Given the description of an element on the screen output the (x, y) to click on. 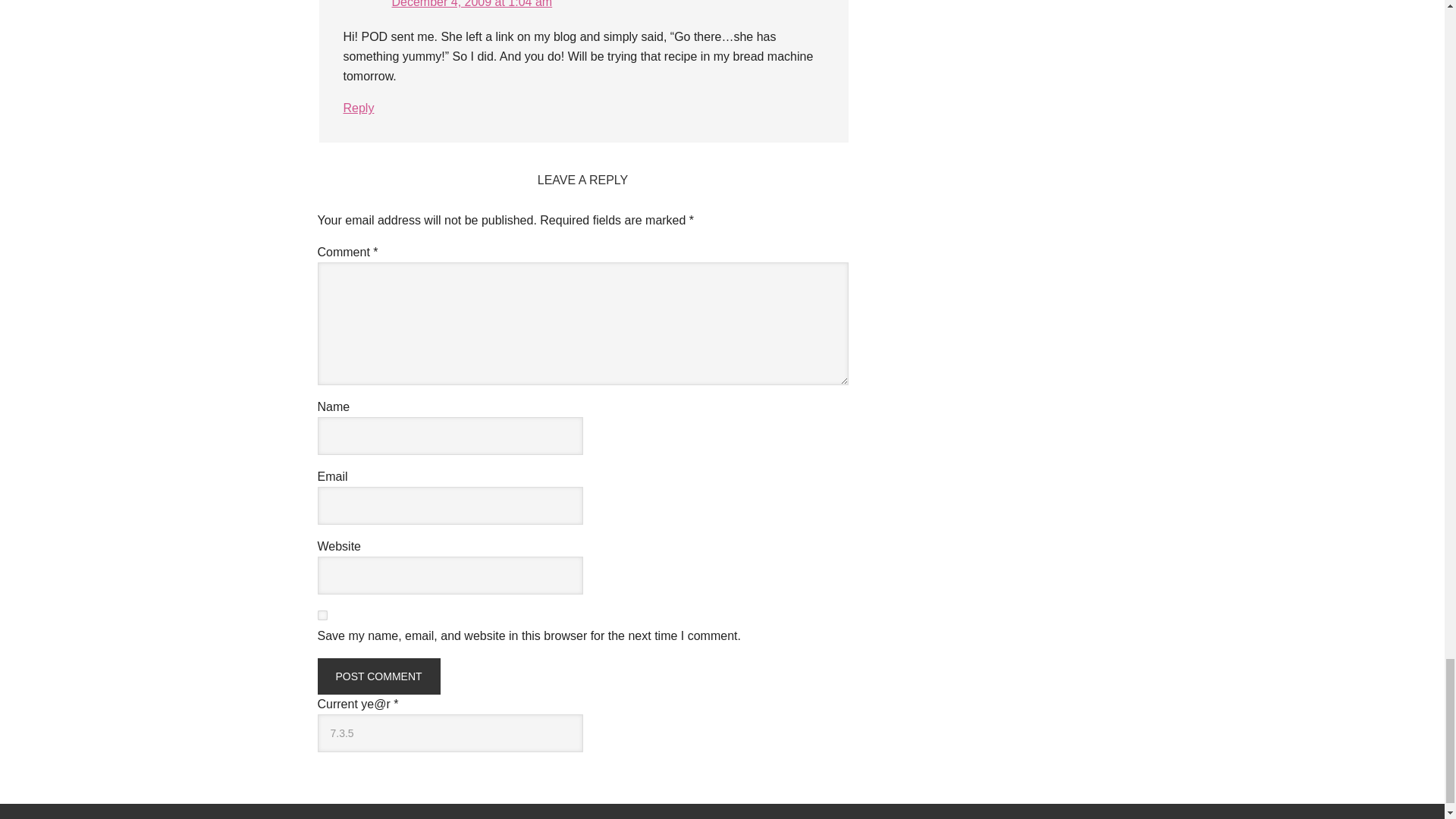
yes (321, 614)
7.3.5 (449, 733)
Post Comment (378, 676)
